Given the description of an element on the screen output the (x, y) to click on. 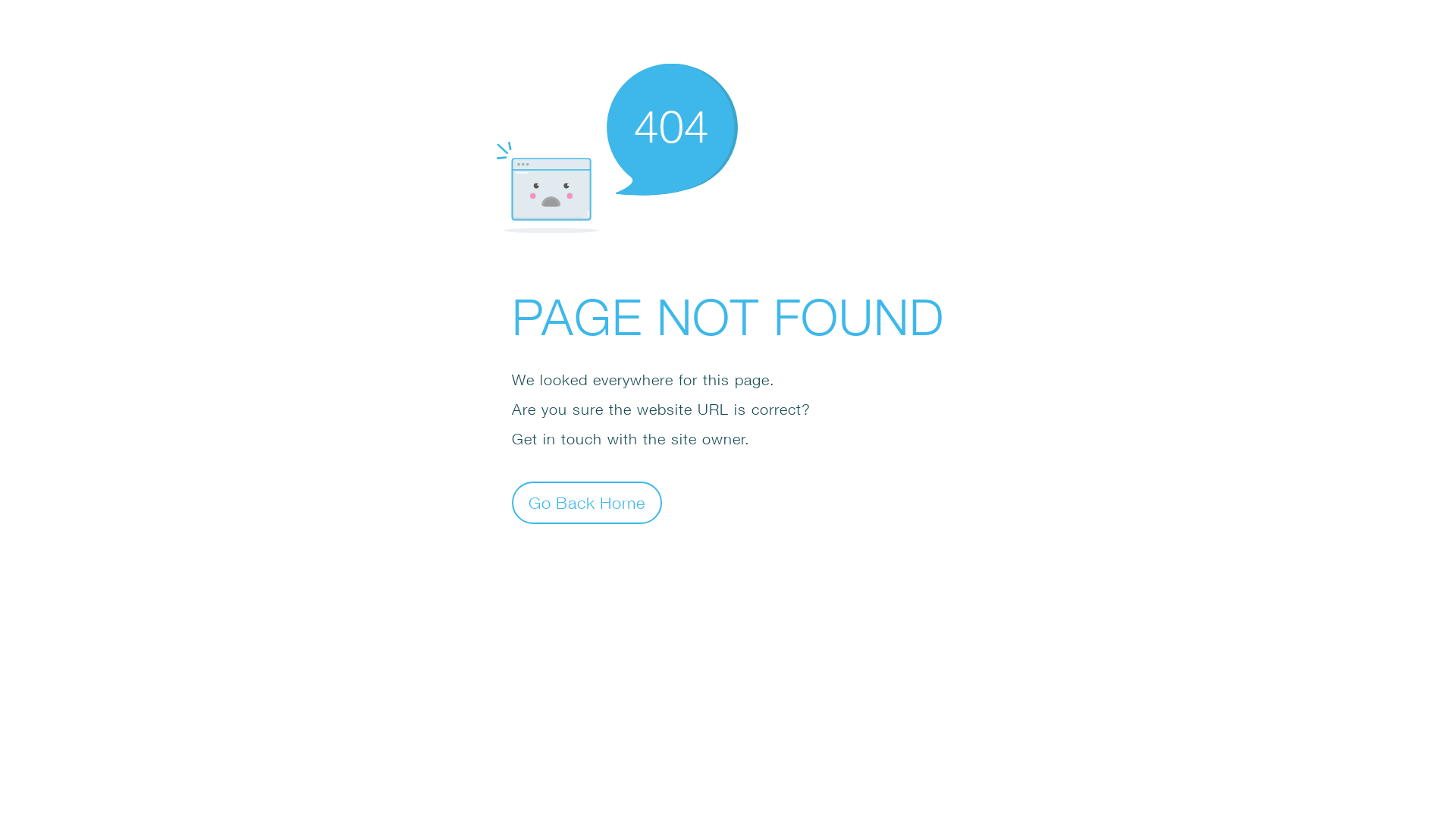
Go Back Home Element type: text (586, 502)
